Given the description of an element on the screen output the (x, y) to click on. 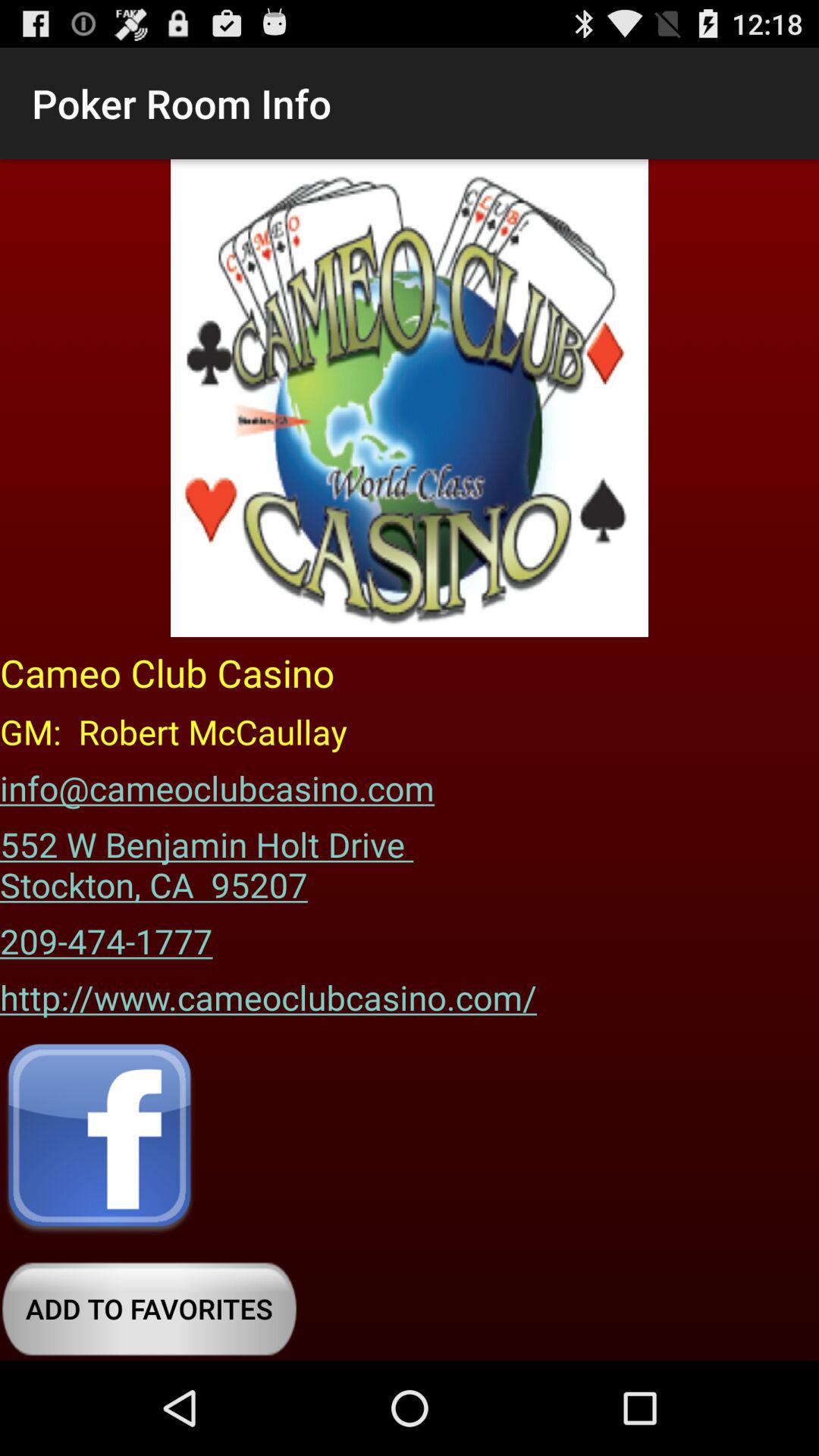
tap the item above the http www cameoclubcasino (106, 935)
